Given the description of an element on the screen output the (x, y) to click on. 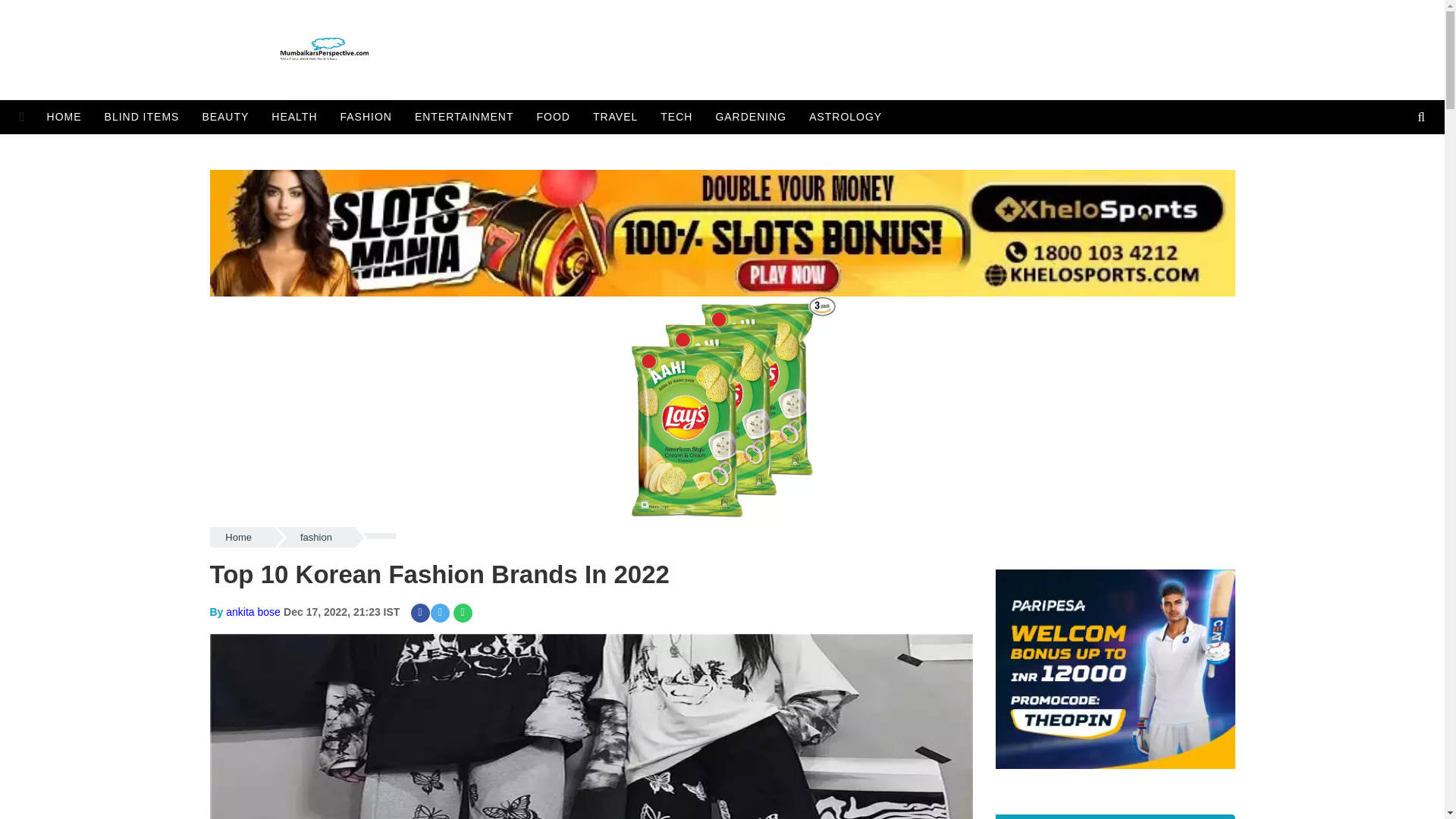
TECH (676, 116)
3rd party ad content (176, 744)
FASHION (366, 116)
3rd party ad content (721, 149)
ENTERTAINMENT (464, 116)
GARDENING (750, 116)
HOME (68, 116)
BLIND ITEMS (141, 116)
FOOD (552, 116)
ASTROLOGY (845, 116)
